Given the description of an element on the screen output the (x, y) to click on. 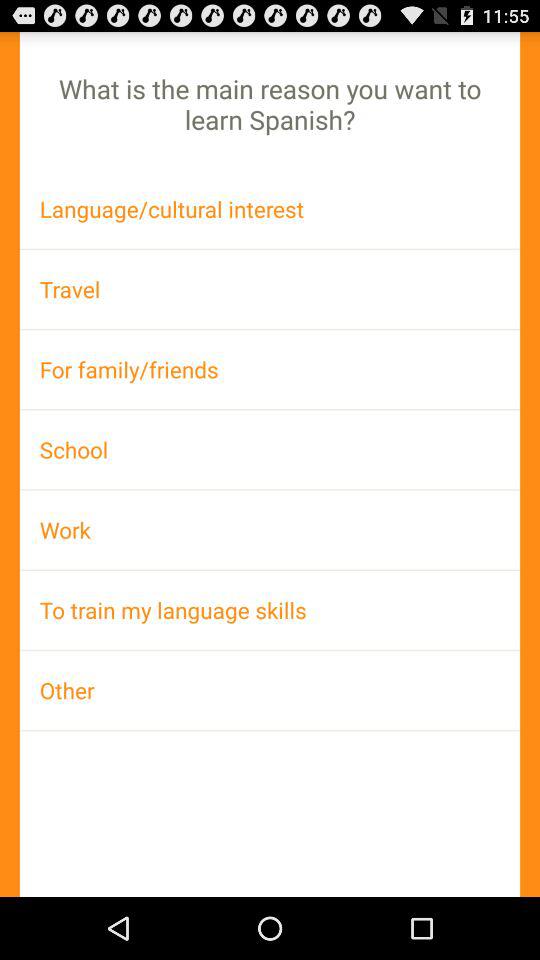
choose icon below the language/cultural interest (269, 288)
